Given the description of an element on the screen output the (x, y) to click on. 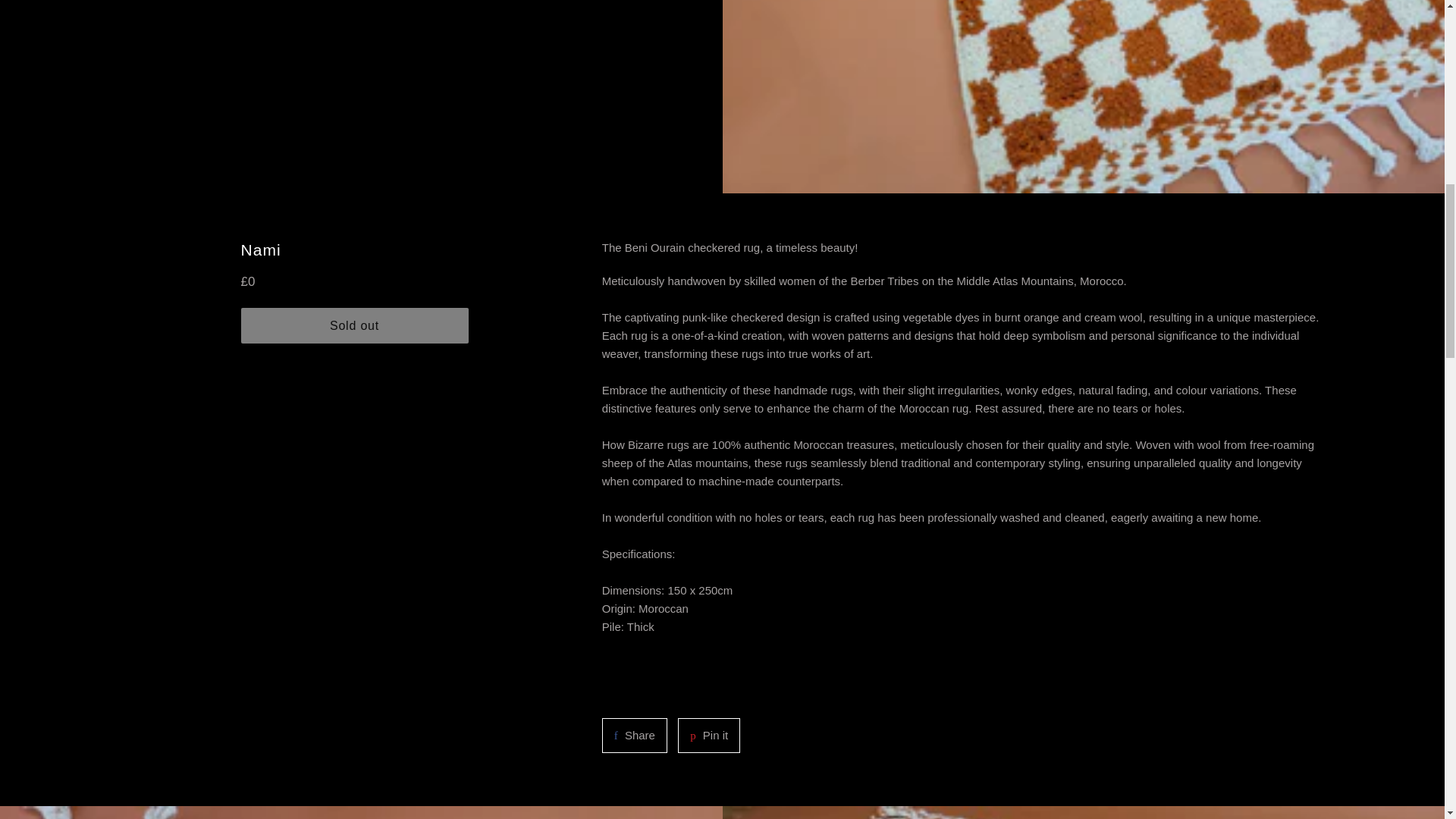
Sold out (354, 325)
Pin on Pinterest (708, 735)
Share on Facebook (708, 735)
